Given the description of an element on the screen output the (x, y) to click on. 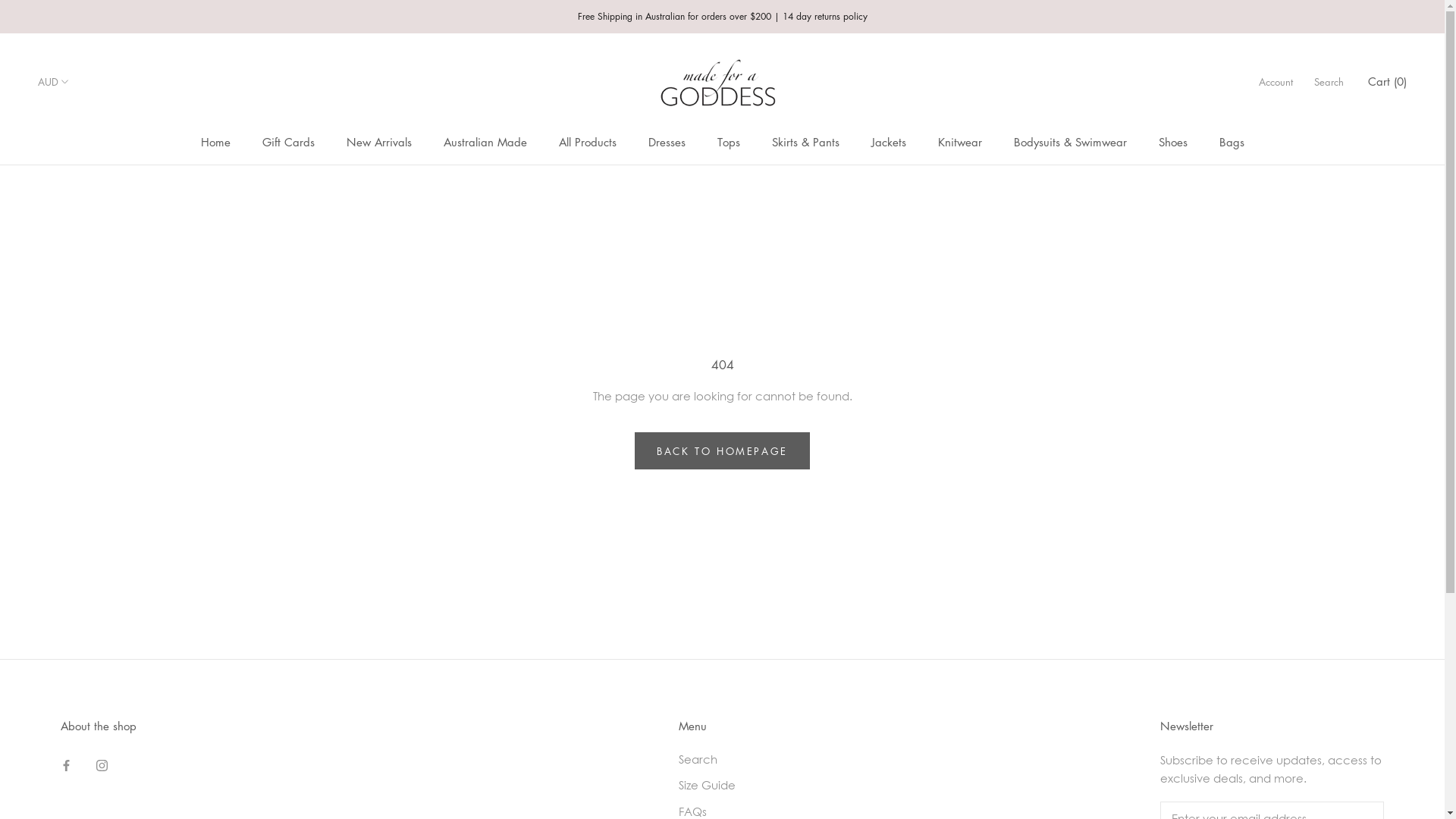
Jackets
Jackets Element type: text (887, 141)
Cart (0) Element type: text (1387, 80)
Account Element type: text (1275, 81)
Bodysuits & Swimwear
Bodysuits & Swimwear Element type: text (1069, 141)
Search Element type: text (1328, 81)
All Products
All Products Element type: text (586, 141)
BACK TO HOMEPAGE Element type: text (721, 450)
Australian Made
Australian Made Element type: text (484, 141)
Size Guide Element type: text (754, 784)
Dresses
Dresses Element type: text (665, 141)
New Arrivals
New Arrivals Element type: text (378, 141)
Shoes
Shoes Element type: text (1172, 141)
Skirts & Pants
Skirts & Pants Element type: text (805, 141)
Knitwear
Knitwear Element type: text (959, 141)
Home
Home Element type: text (214, 141)
Tops
Tops Element type: text (728, 141)
Bags
Bags Element type: text (1231, 141)
Gift Cards
Gift Cards Element type: text (288, 141)
Search Element type: text (754, 759)
